Given the description of an element on the screen output the (x, y) to click on. 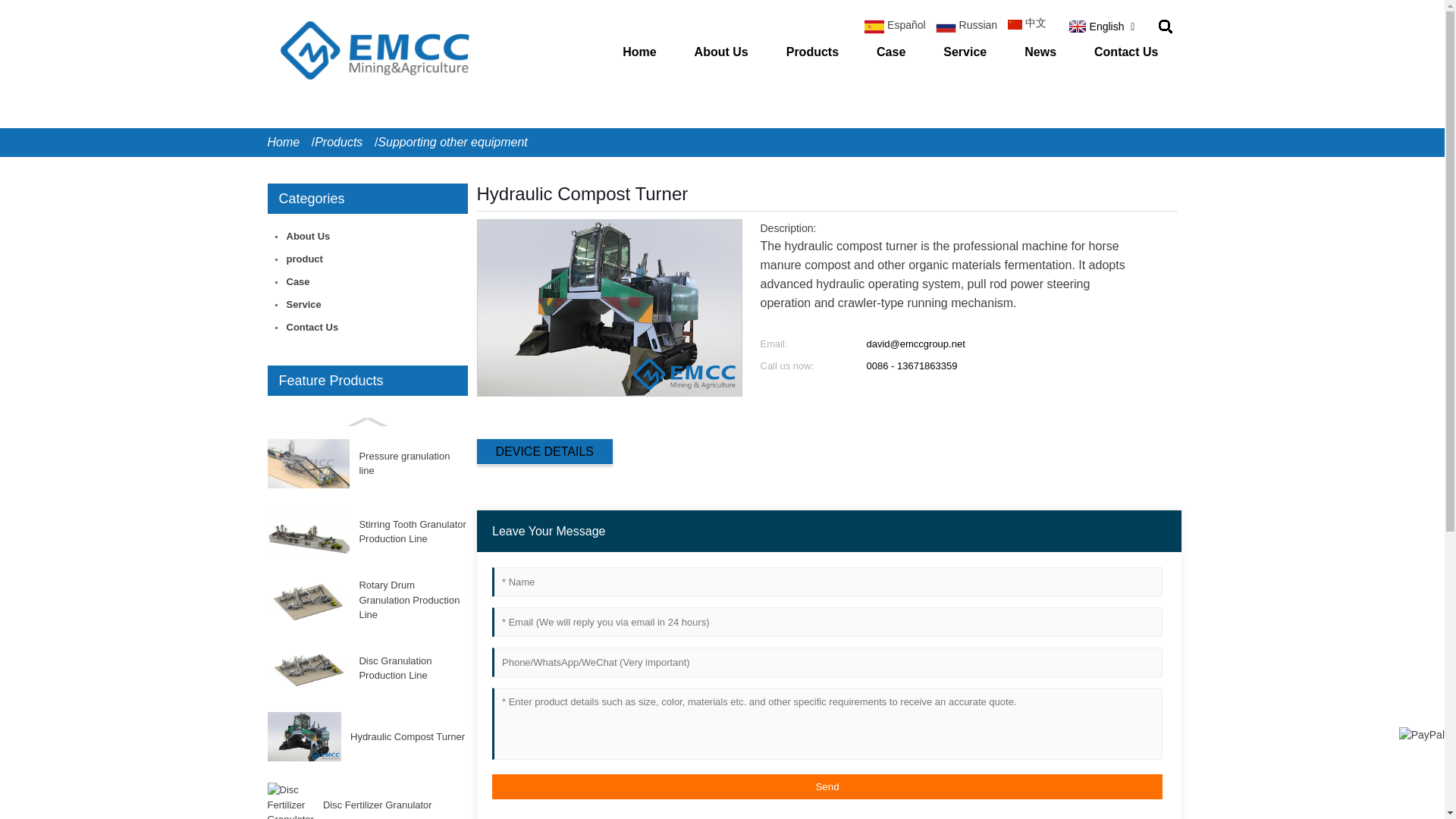
Home (639, 51)
Service (965, 51)
Case (890, 51)
About Us (721, 51)
Contact Us (1125, 51)
Products (345, 142)
Russian (971, 25)
Products (345, 142)
English (1094, 26)
Supporting other equipment (452, 142)
